Given the description of an element on the screen output the (x, y) to click on. 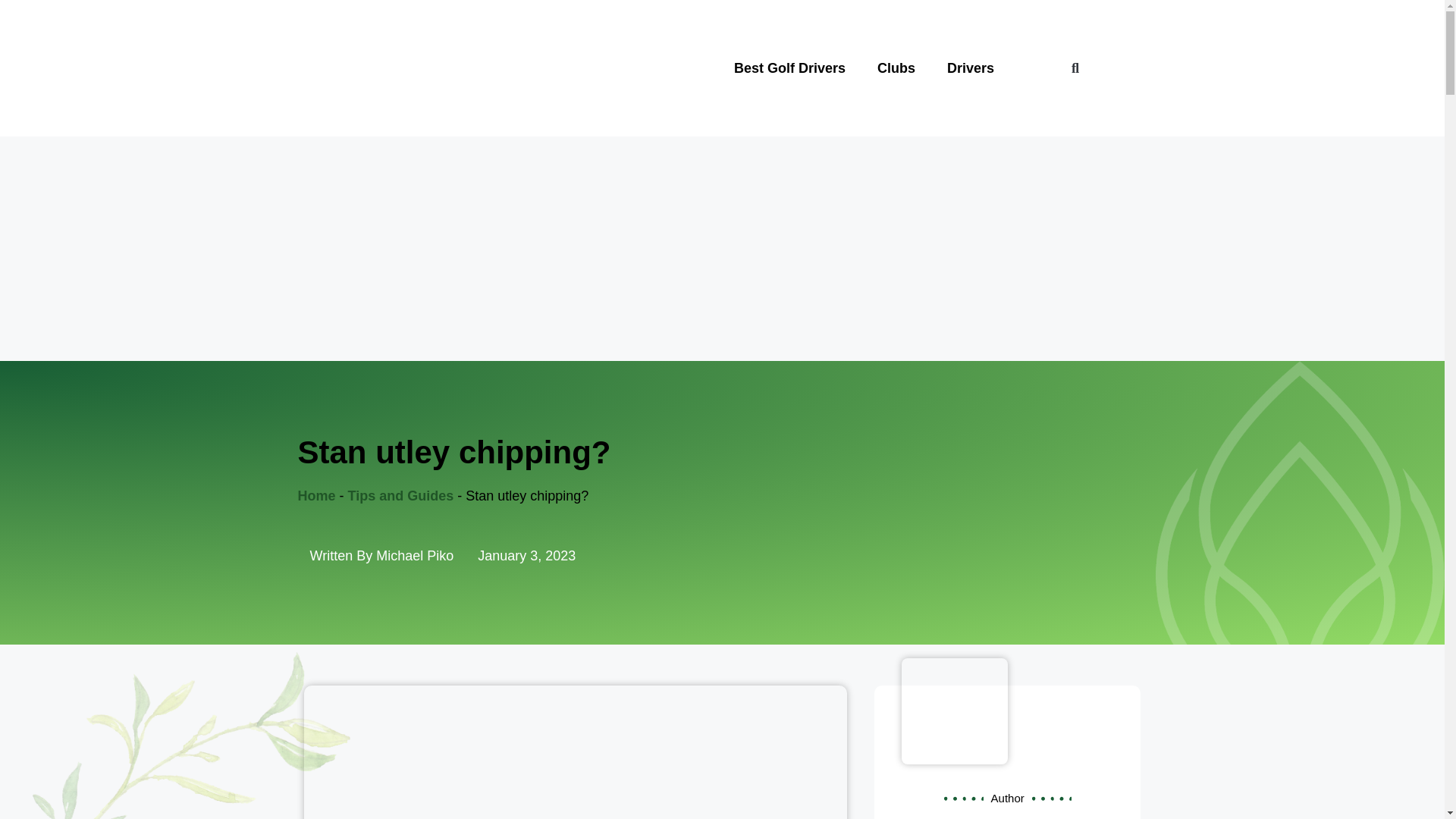
Drivers (970, 67)
Best Golf Drivers (789, 67)
Home (315, 495)
Tips and Guides (400, 495)
Clubs (896, 67)
